Given the description of an element on the screen output the (x, y) to click on. 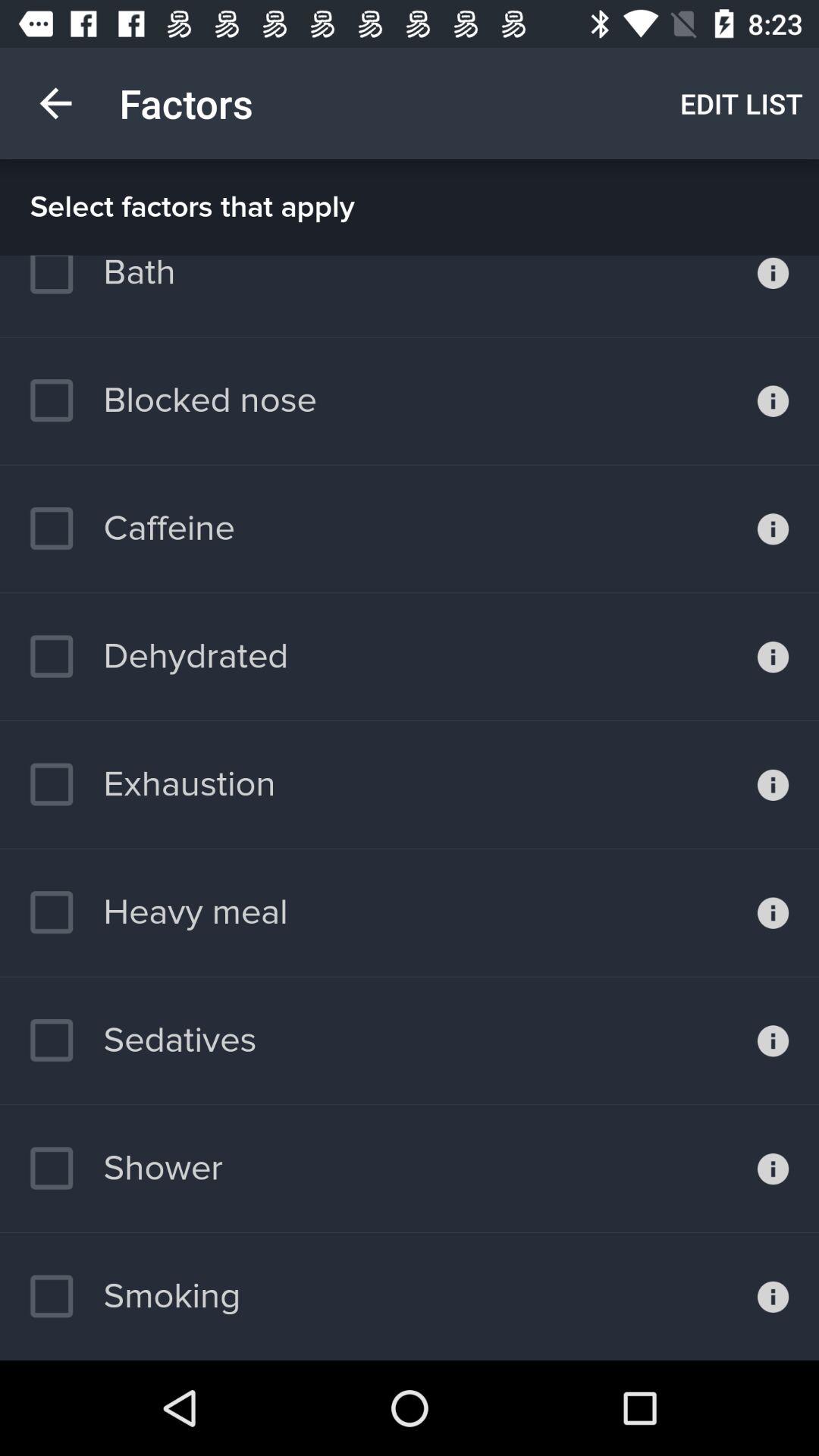
view information (773, 656)
